Given the description of an element on the screen output the (x, y) to click on. 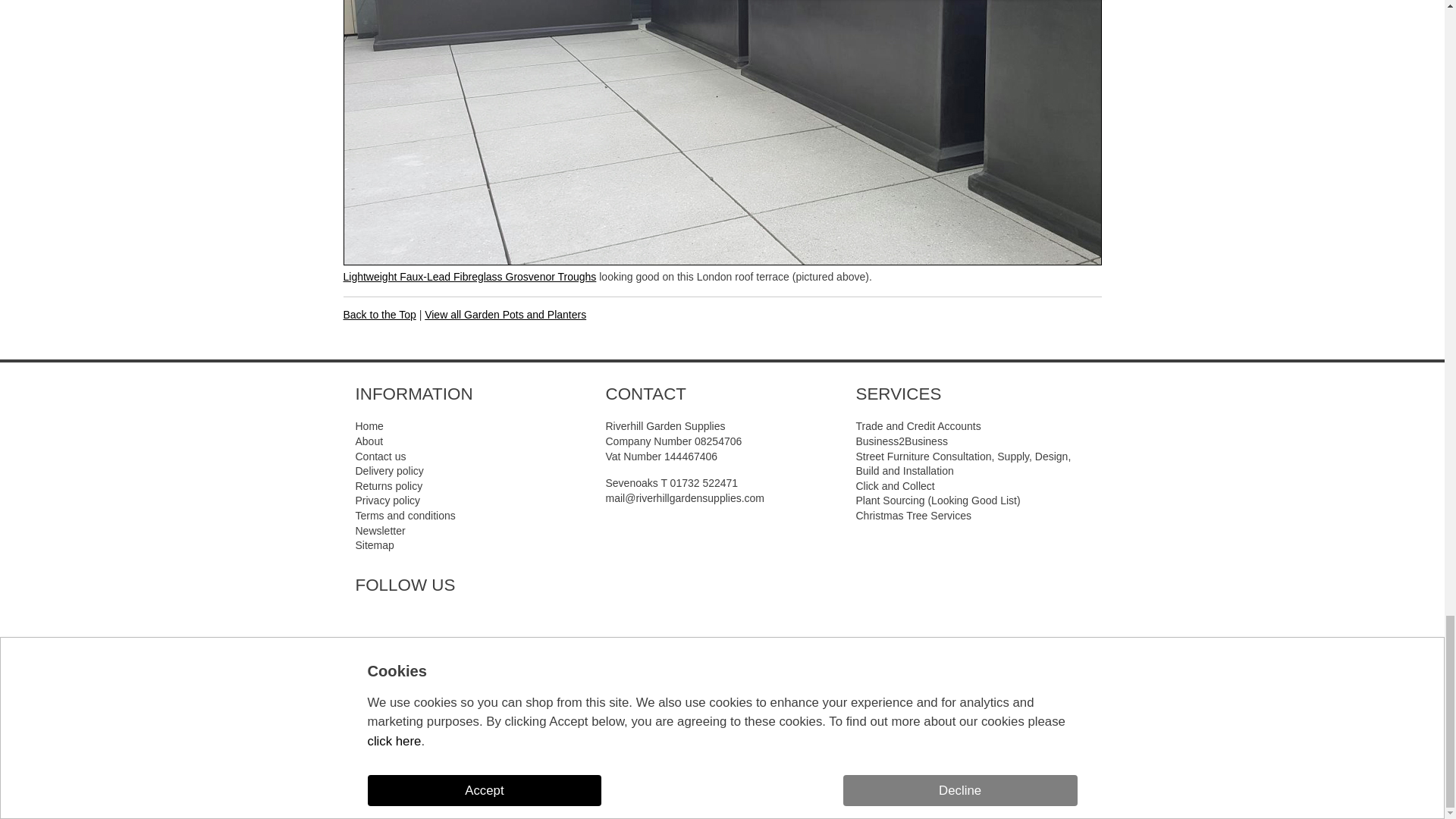
PayPal Message 1 (722, 749)
